Given the description of an element on the screen output the (x, y) to click on. 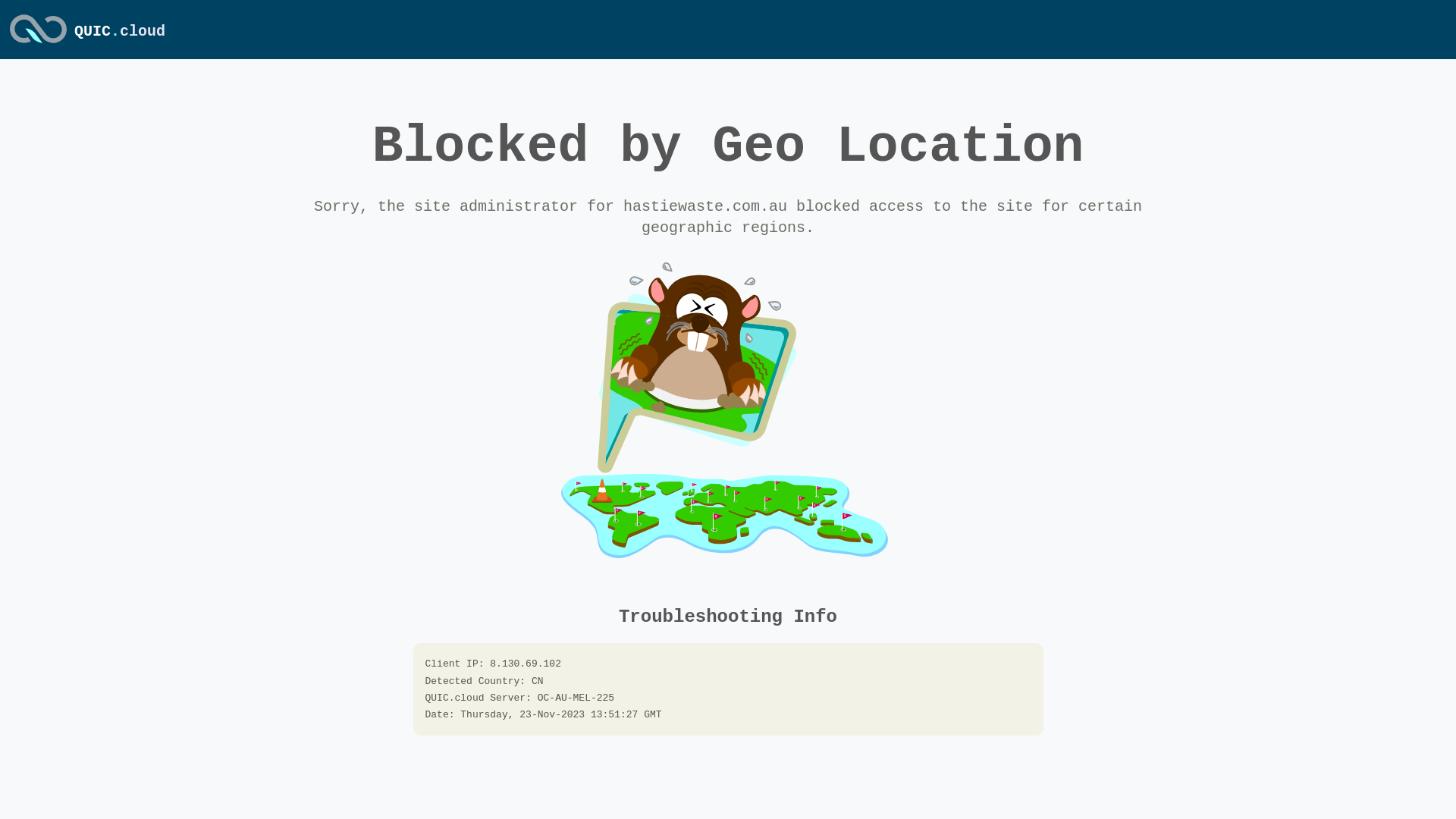
QUIC.cloud Element type: text (119, 31)
QUIC.cloud Element type: hover (38, 44)
